Given the description of an element on the screen output the (x, y) to click on. 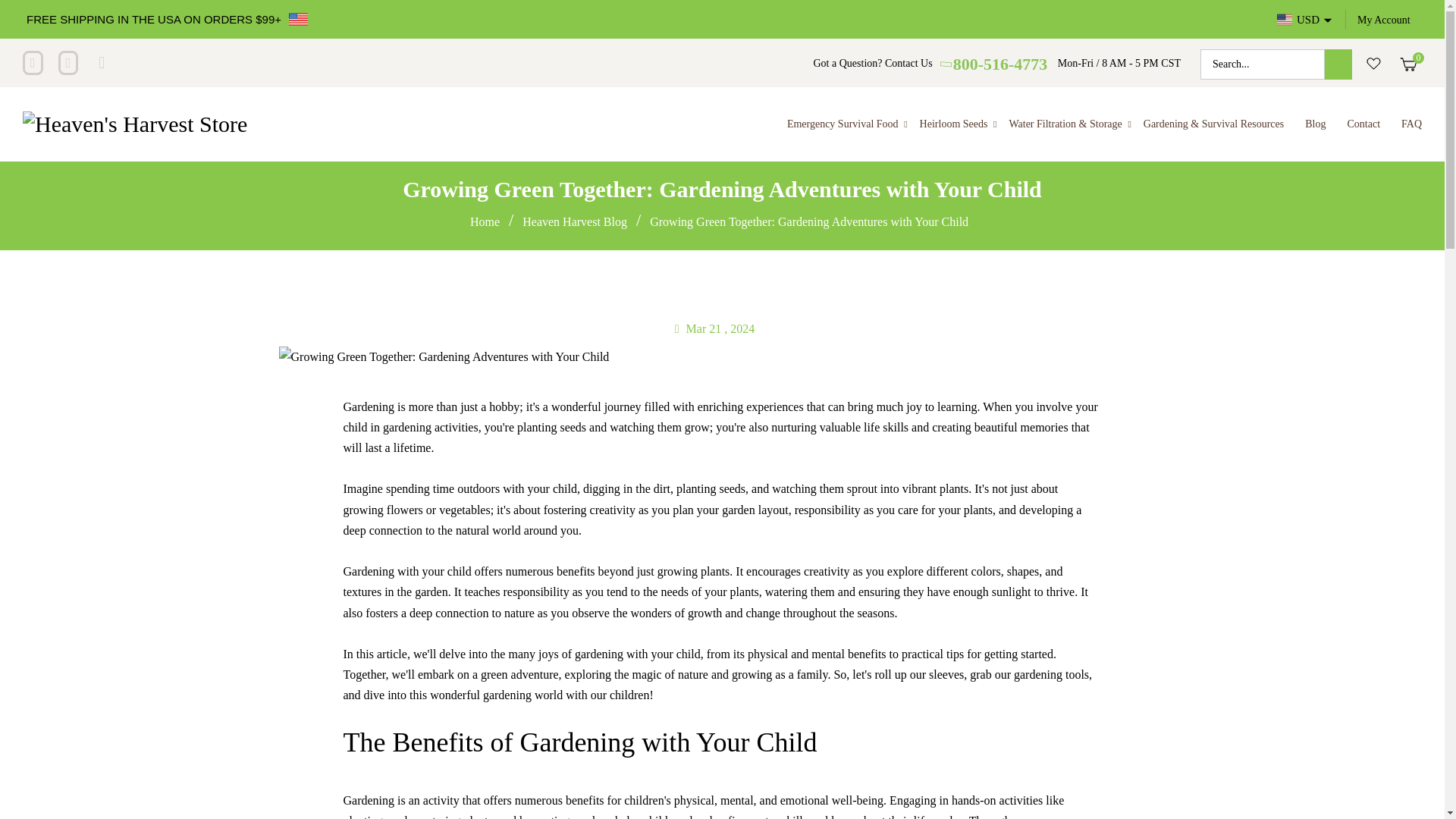
Wishlist (1373, 63)
0 (1408, 67)
My Account (1383, 20)
Heirloom Seeds (954, 124)
800-516-4773 (994, 63)
Emergency Survival Food (842, 124)
Log in (1383, 20)
Heaven Harvest Blog (576, 221)
Home (486, 221)
USD (1305, 19)
